Given the description of an element on the screen output the (x, y) to click on. 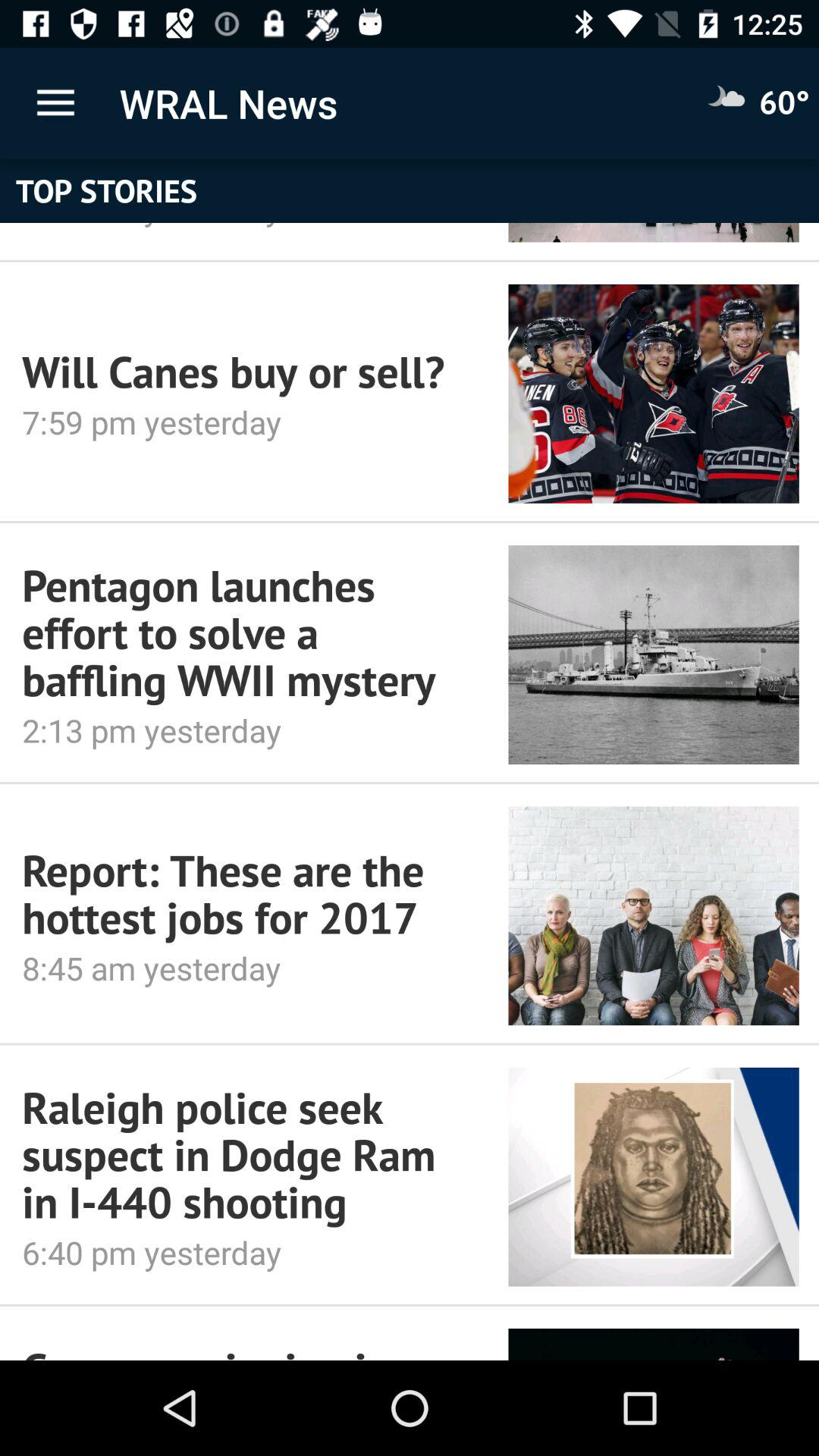
select the icon below the report these are (244, 967)
